Given the description of an element on the screen output the (x, y) to click on. 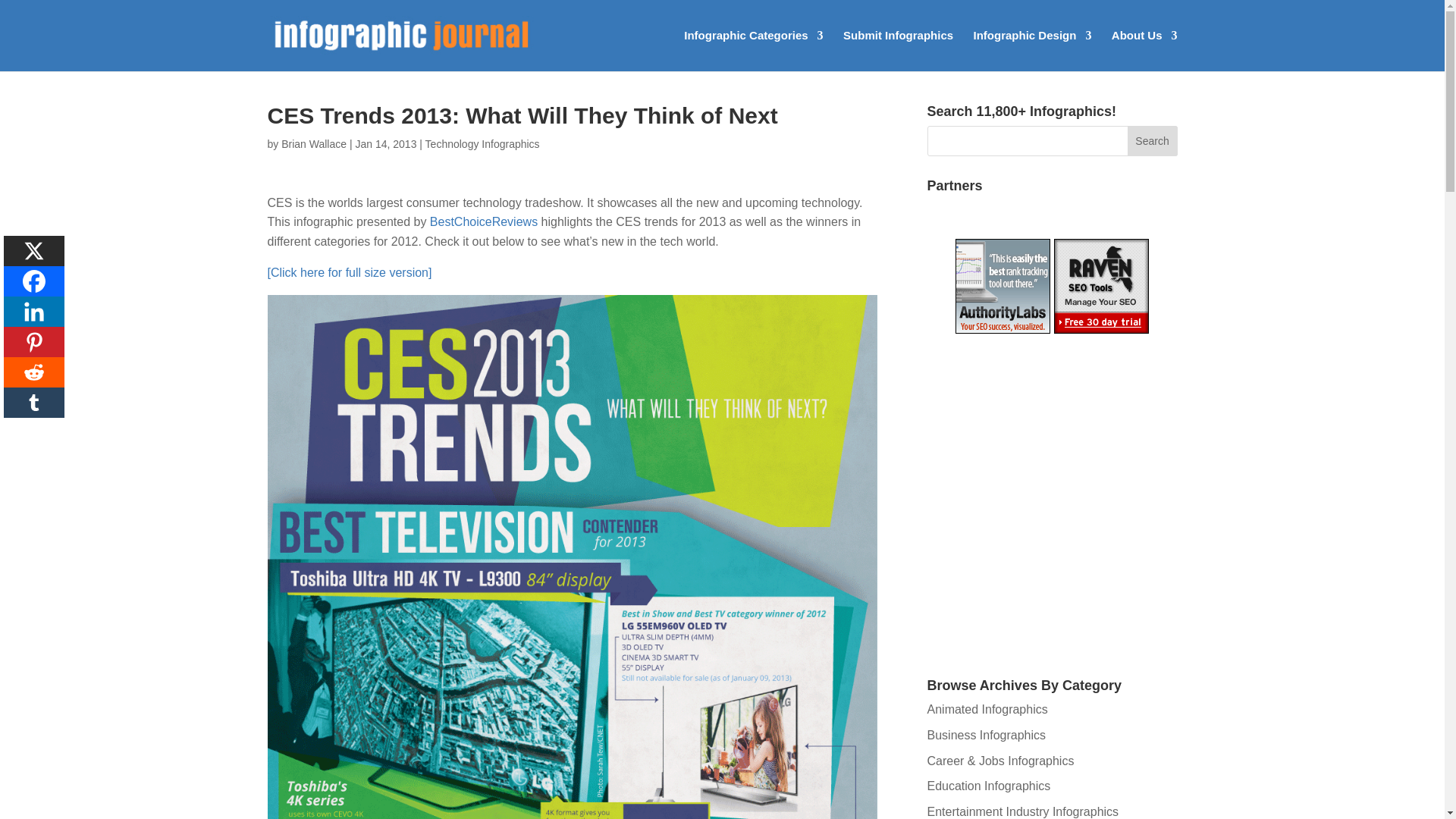
Brian Wallace (313, 143)
BestChoiceReviews (483, 221)
Submit Infographics (898, 50)
Infographic Design (1033, 50)
About Us (1144, 50)
Infographic Categories (753, 50)
Infographic Categories (753, 50)
Technology Infographics (482, 143)
Search (1151, 141)
